Given the description of an element on the screen output the (x, y) to click on. 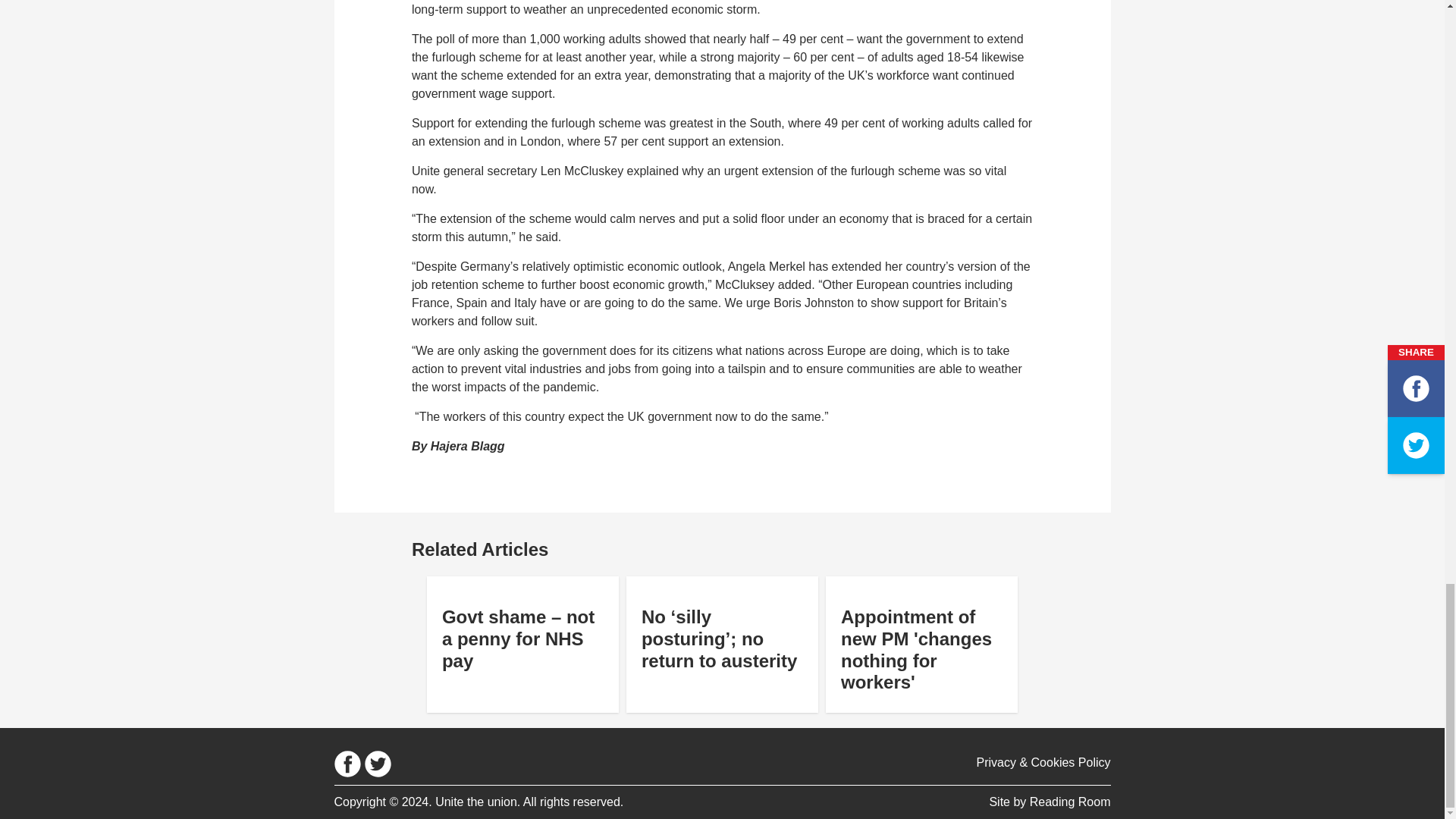
Twitter (377, 764)
Reading Room (1069, 801)
Facebook (346, 764)
Appointment of new PM 'changes nothing for workers' (922, 642)
